Given the description of an element on the screen output the (x, y) to click on. 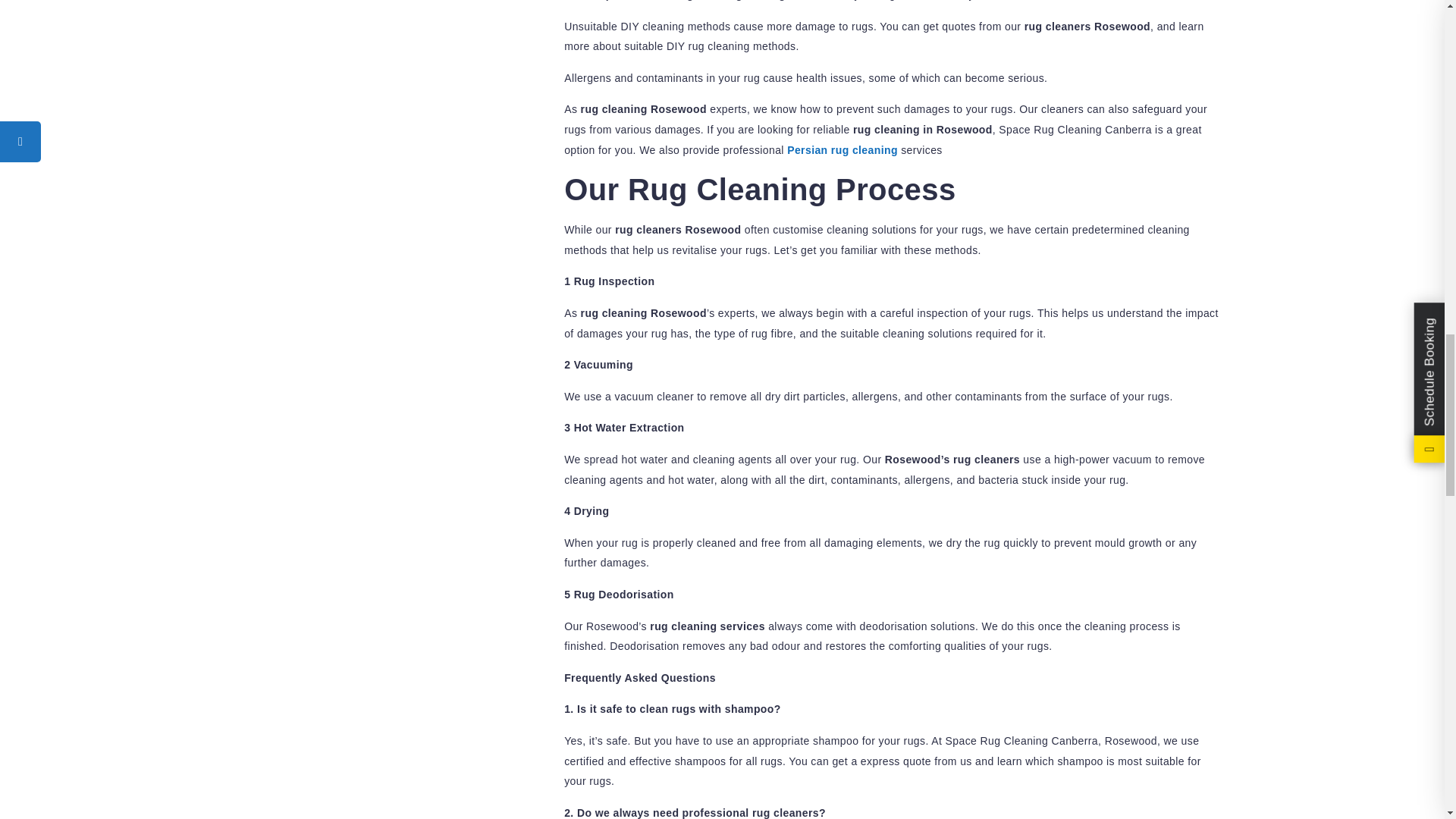
Persian rug cleaning (842, 150)
